Given the description of an element on the screen output the (x, y) to click on. 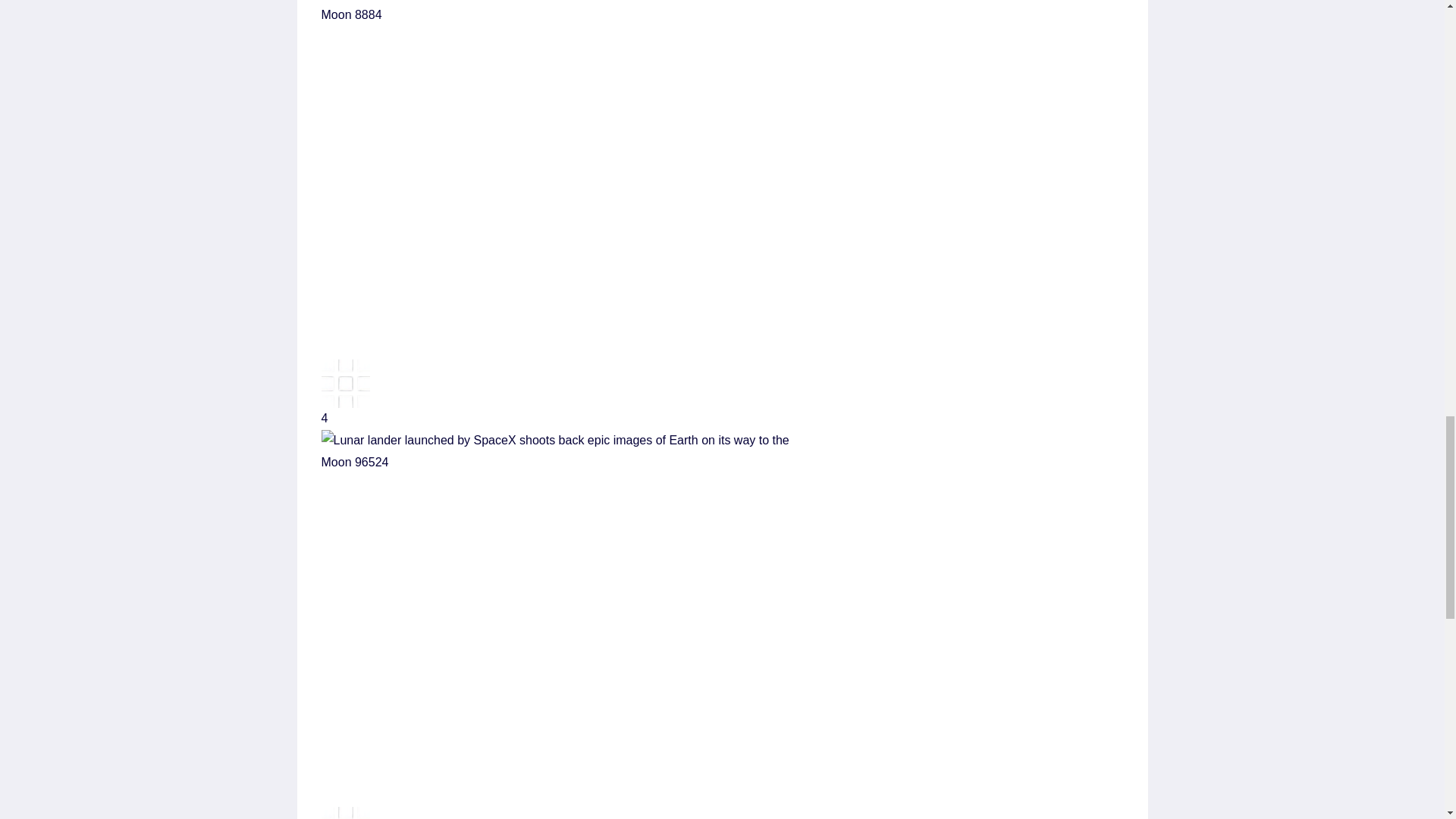
Open Gallery (722, 812)
Open Gallery (722, 394)
